Given the description of an element on the screen output the (x, y) to click on. 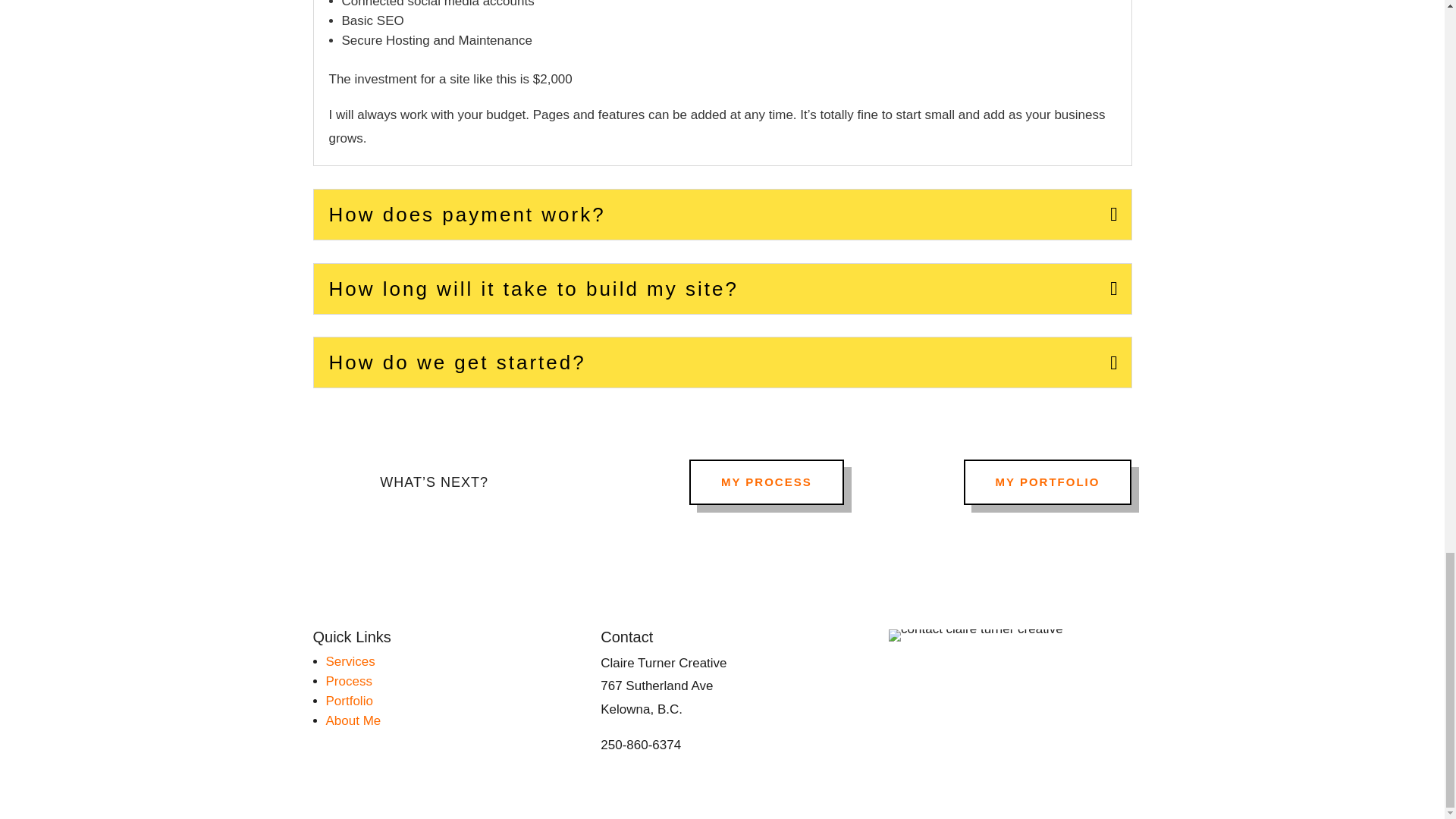
Process (349, 681)
process (349, 681)
contact-birds (975, 635)
services (350, 661)
MY PROCESS (766, 482)
About (353, 720)
About Me (353, 720)
MY PORTFOLIO (1047, 482)
Services (350, 661)
portfolio (349, 700)
Portfolio (349, 700)
